Given the description of an element on the screen output the (x, y) to click on. 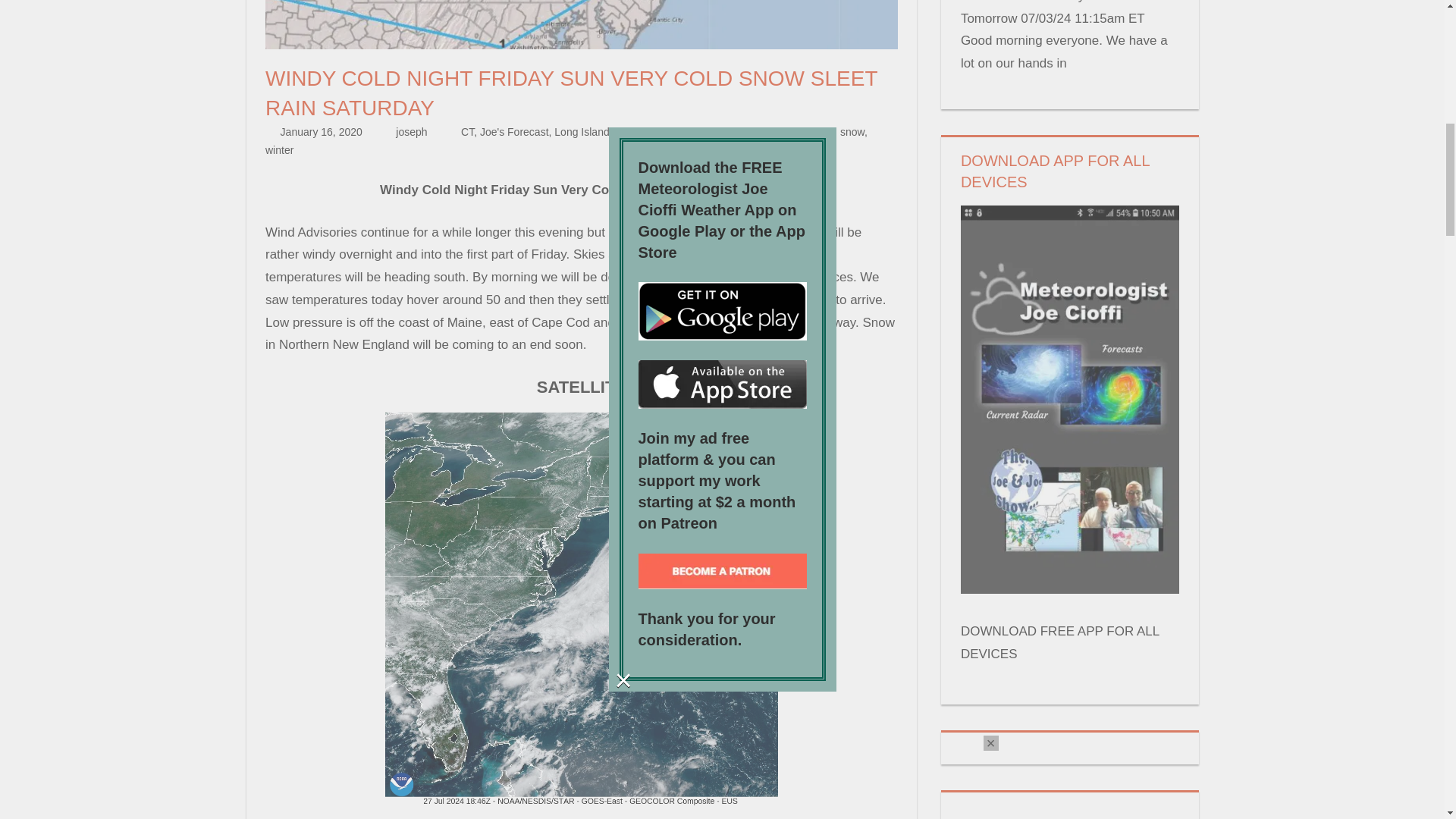
View all posts by joseph (411, 132)
6:24 pm (321, 132)
January 16, 2020 (321, 132)
Long Island (581, 132)
joseph (411, 132)
CT (467, 132)
rain (758, 132)
Pennsylvania (684, 132)
SCPA (786, 132)
PHL (732, 132)
NJ (621, 132)
Joe's Forecast (514, 132)
NY (640, 132)
